Given the description of an element on the screen output the (x, y) to click on. 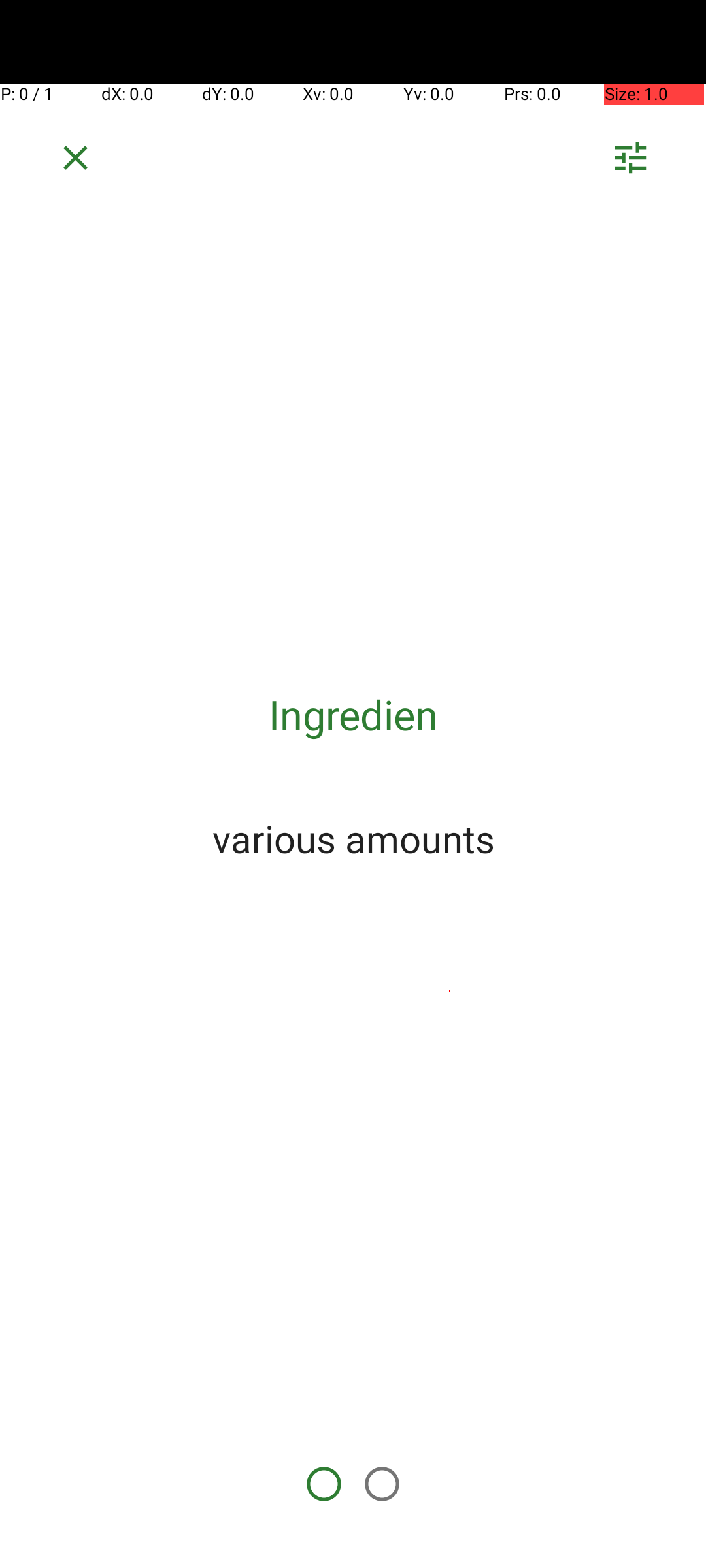
Adjust ingredients Element type: android.widget.Button (630, 161)
Ingredients Element type: android.widget.TextView (352, 714)
various amounts Element type: android.widget.TextView (352, 838)
